Given the description of an element on the screen output the (x, y) to click on. 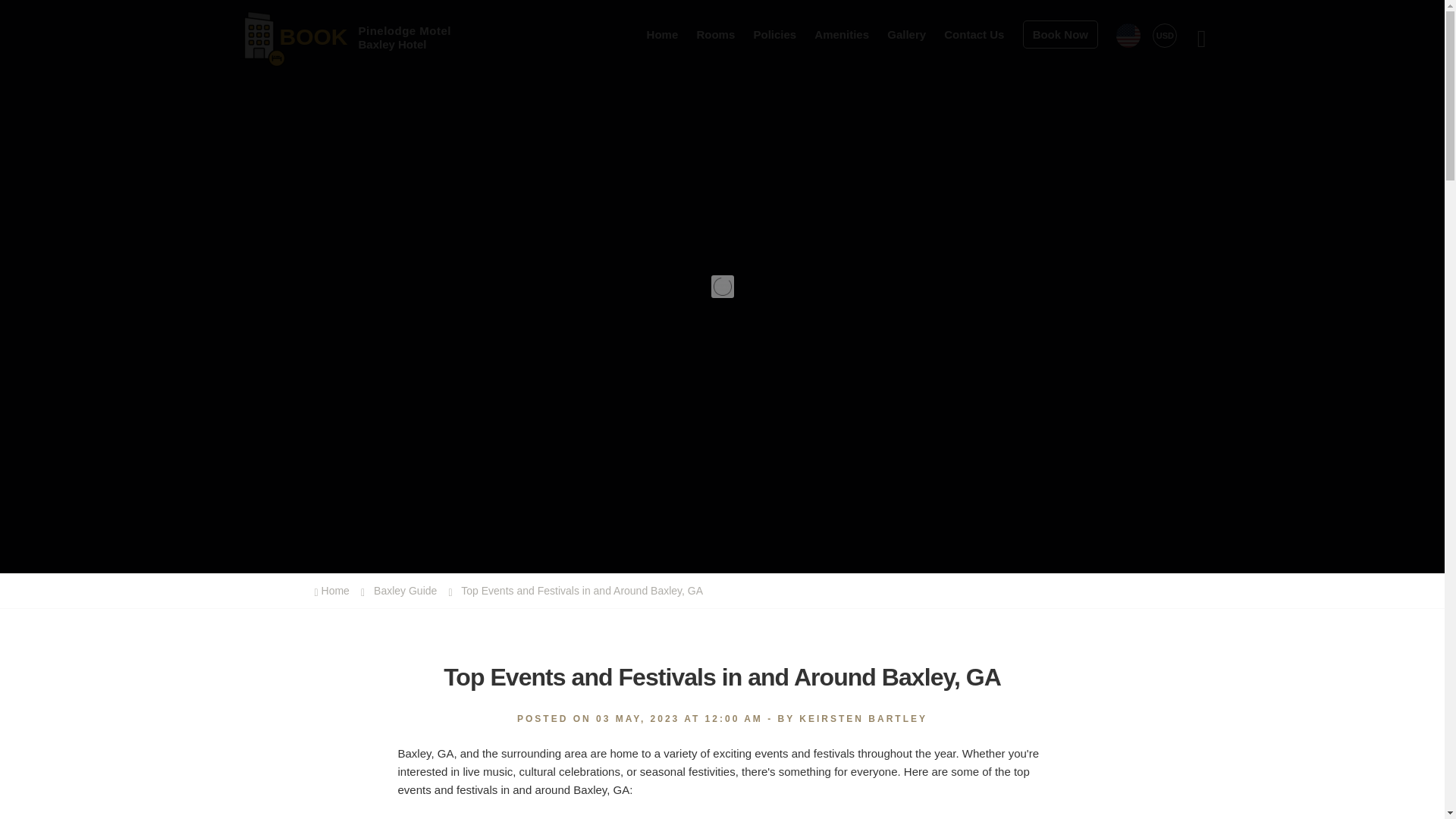
USD (1164, 35)
Baxley Guide (401, 590)
Home (334, 590)
Contact Us (973, 33)
Book Now (1060, 33)
Rooms (715, 33)
Home (662, 33)
Amenities (841, 33)
Gallery (310, 34)
